Given the description of an element on the screen output the (x, y) to click on. 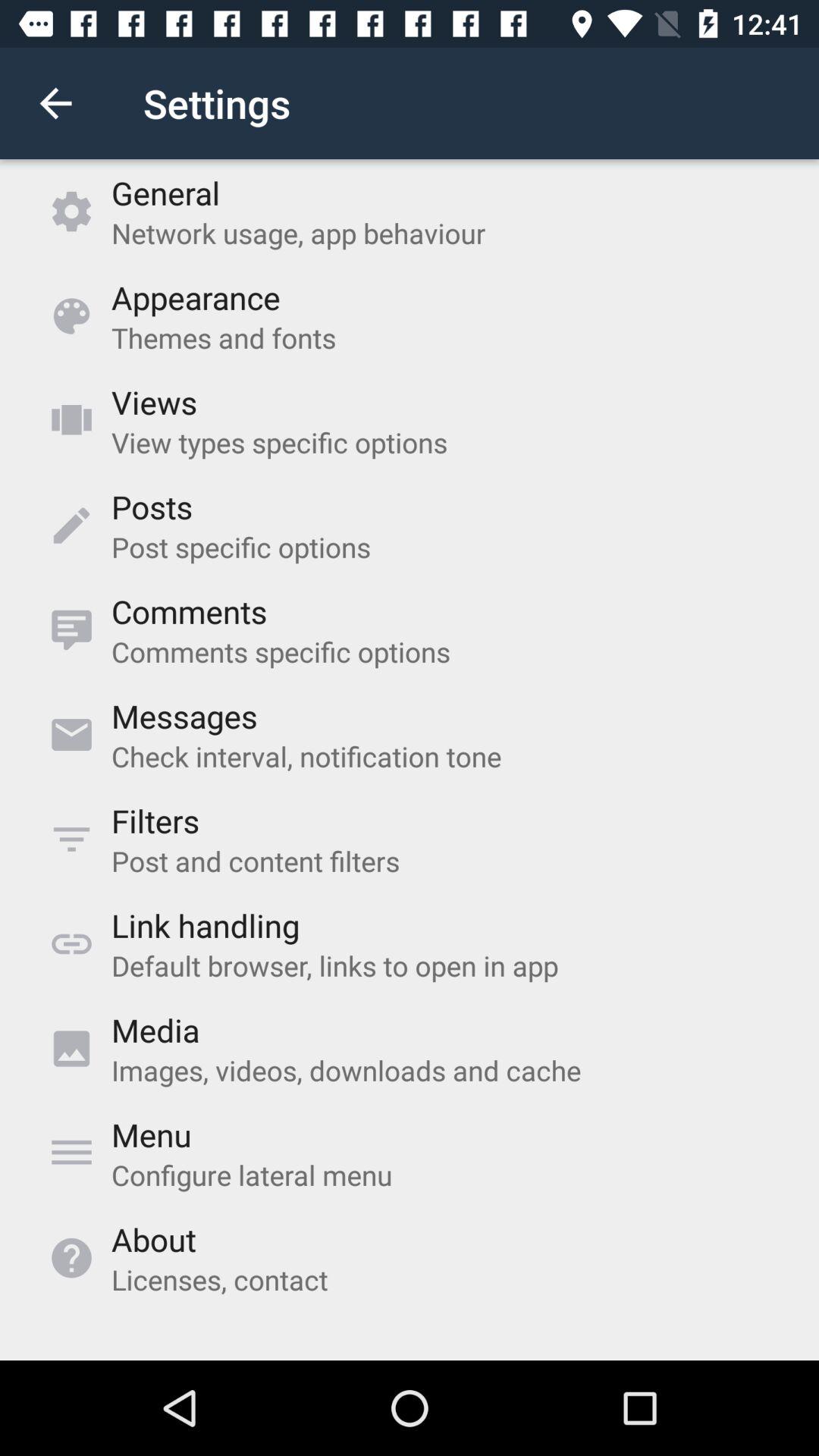
click icon below default browser links (155, 1029)
